Given the description of an element on the screen output the (x, y) to click on. 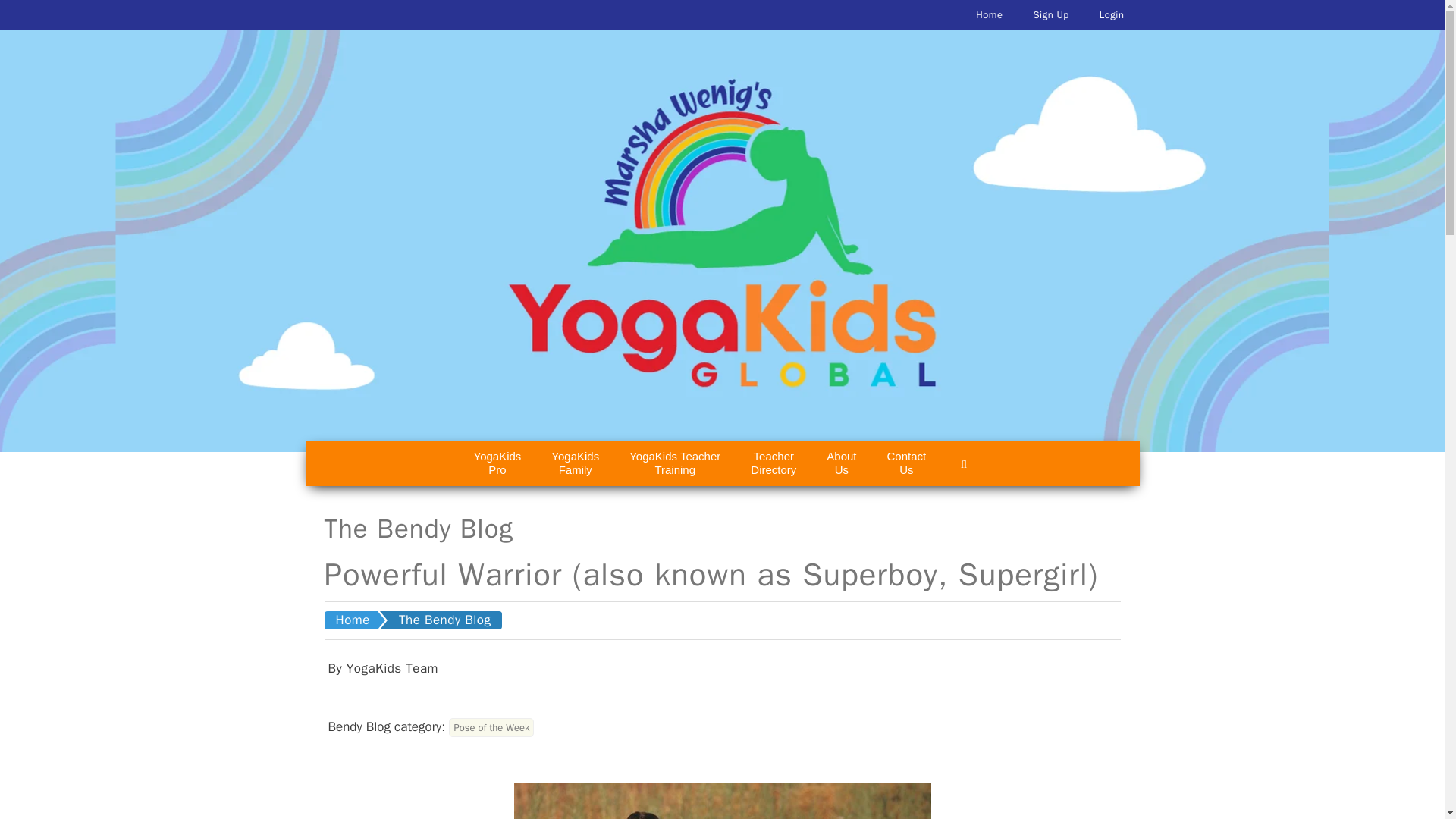
Sign Up (1050, 15)
Home (496, 463)
The Bendy Blog (674, 463)
Home (772, 463)
